Given the description of an element on the screen output the (x, y) to click on. 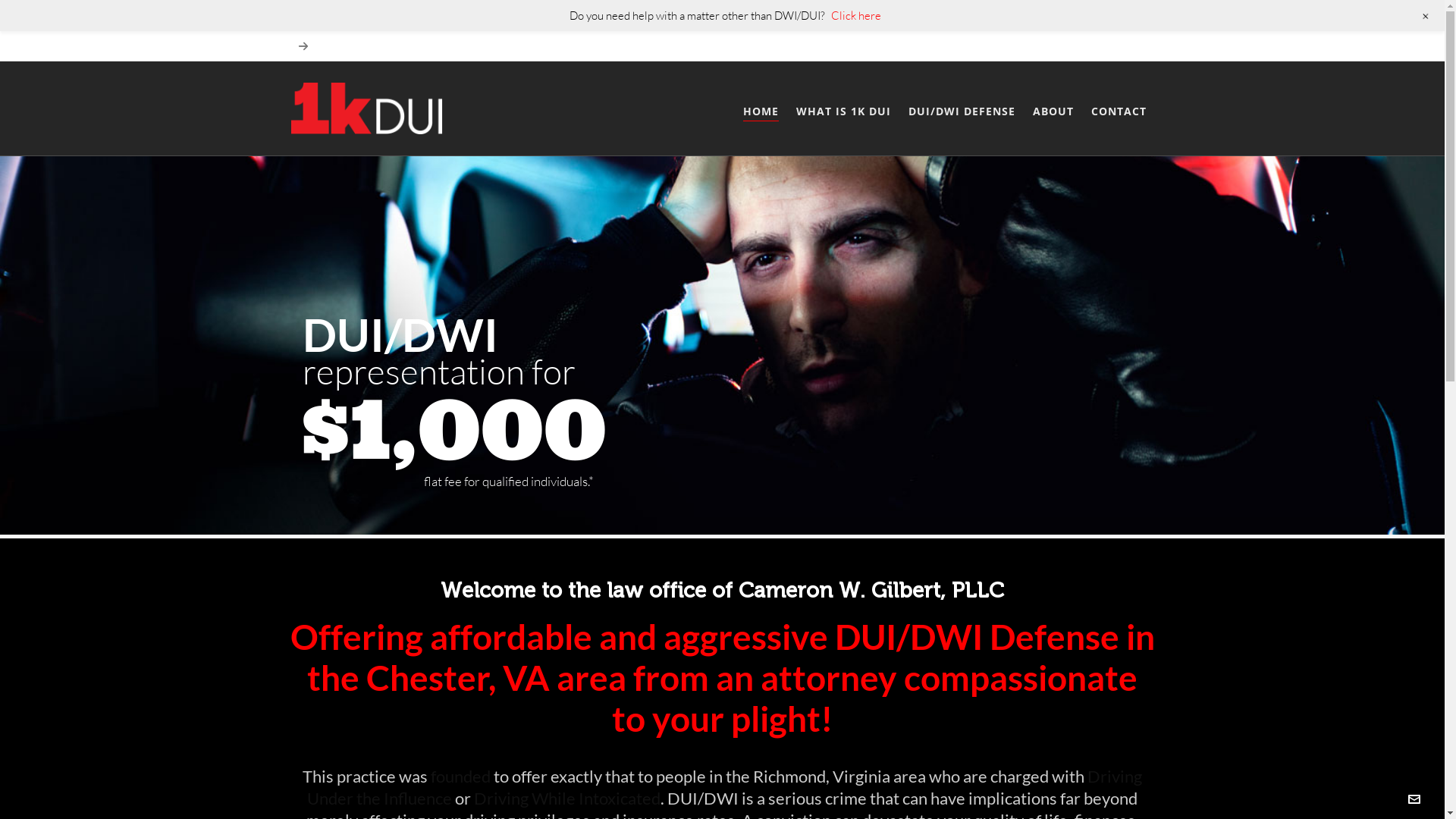
Driving While Intoxicated Element type: text (566, 797)
DUI/DWI DEFENSE Element type: text (960, 108)
Alexandria, VA Element type: text (772, 632)
founded Element type: text (460, 775)
+ Element type: text (1425, 15)
CONTACT Element type: text (1118, 108)
HOME Element type: text (760, 108)
WHAT IS 1K DUI Element type: text (842, 108)
Click here Element type: text (856, 15)
ABOUT Element type: text (1052, 108)
contact@1kdui.com Element type: text (340, 660)
888-7-DUI-HLP Element type: text (355, 608)
Driving Under the Influence Element type: text (724, 786)
